Given the description of an element on the screen output the (x, y) to click on. 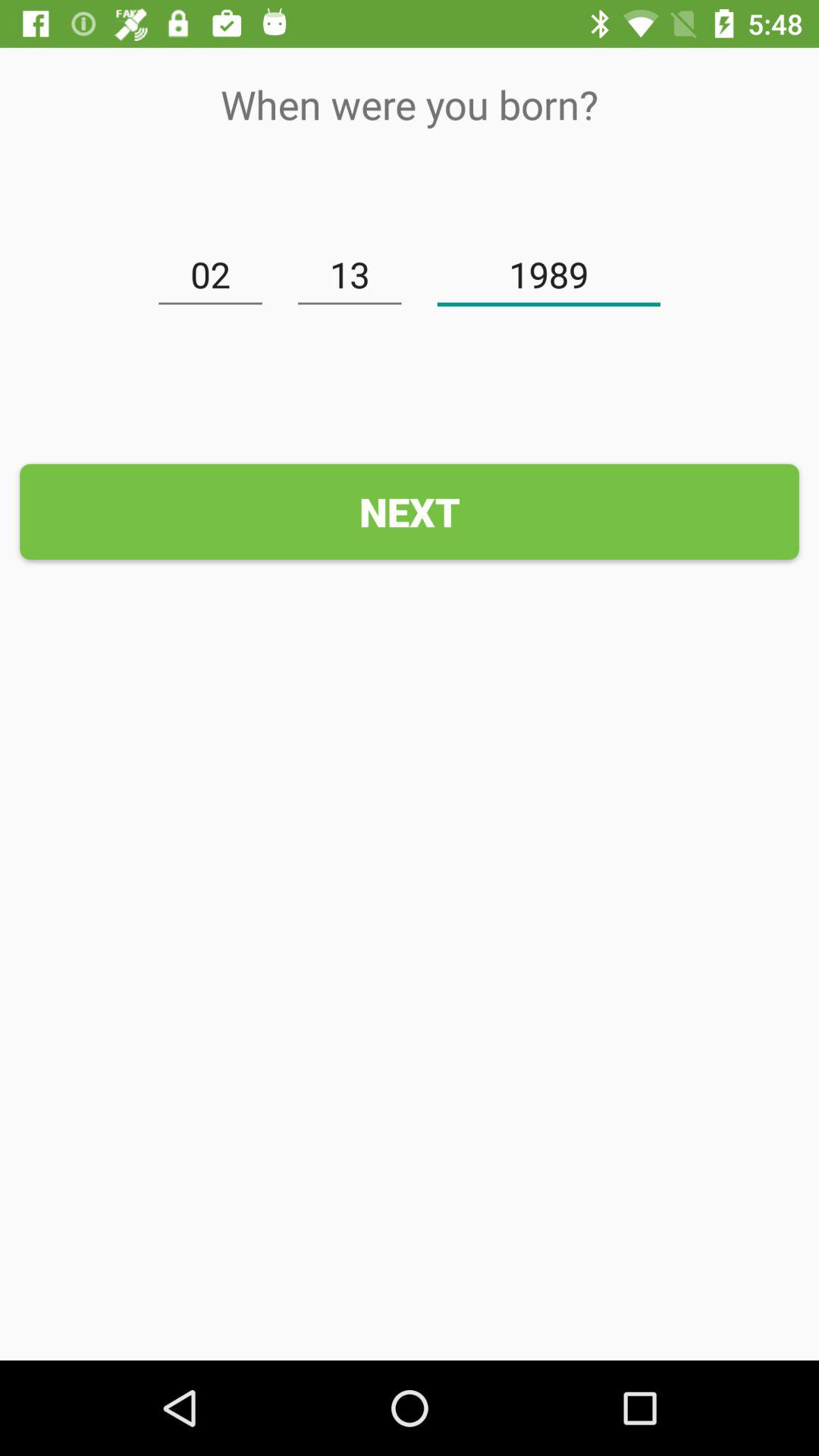
press icon to the left of 1989 item (349, 275)
